Given the description of an element on the screen output the (x, y) to click on. 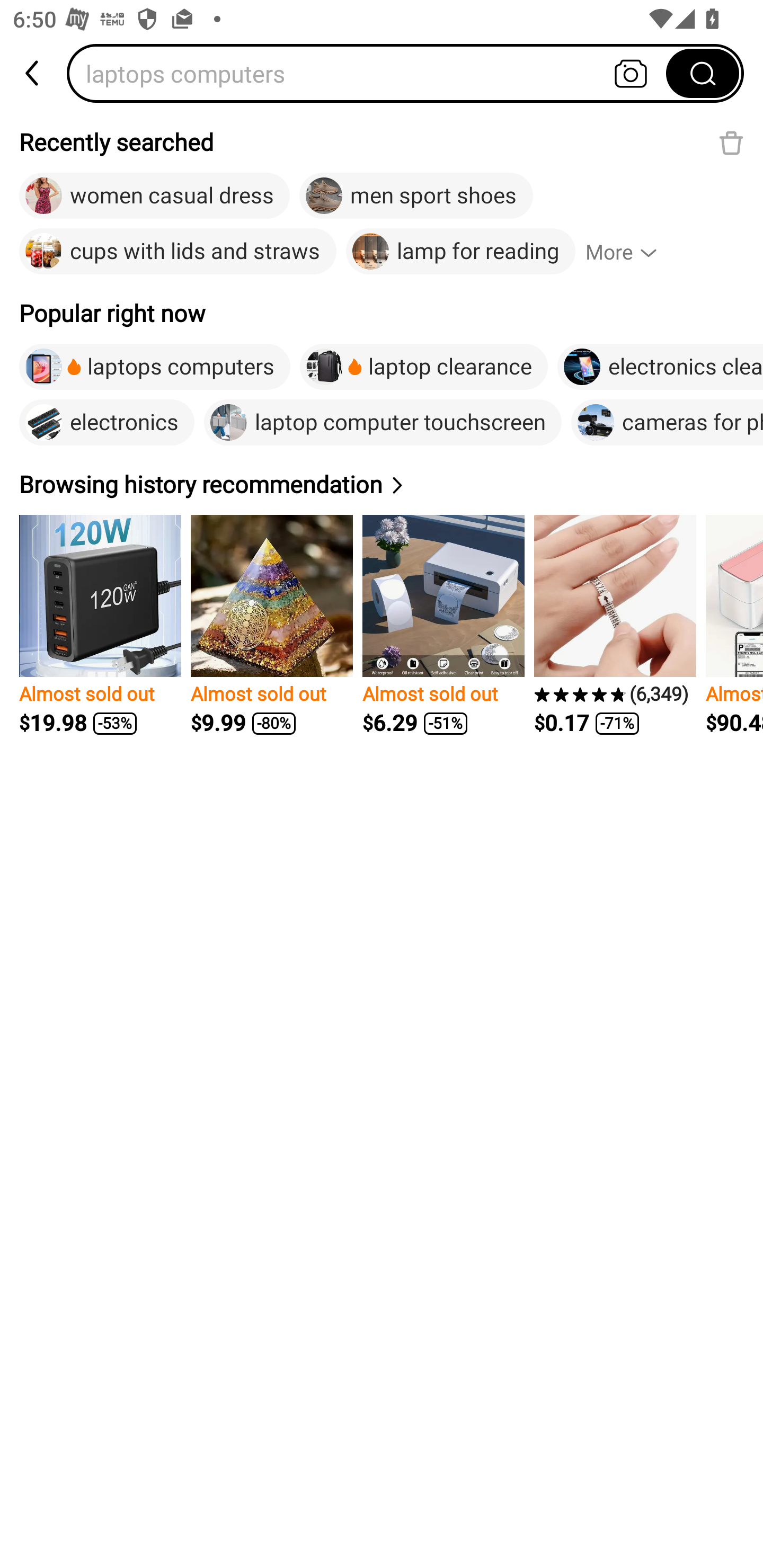
back (33, 72)
laptops computers (372, 73)
Search by photo (630, 73)
Delete recent search (731, 142)
women casual dress (154, 195)
men sport shoes (416, 195)
cups with lids and straws (177, 251)
lamp for reading (460, 251)
More (629, 251)
laptops computers (154, 366)
laptop clearance (423, 366)
electronics clearance (660, 366)
electronics (106, 422)
laptop computer touchscreen (382, 422)
cameras for photography (667, 422)
Browsing history recommendation (213, 484)
Almost sold out $19.98 -53% (100, 625)
Almost sold out $9.99 -80% (271, 625)
Almost sold out $6.29 -51% (443, 625)
(6,349) $0.17 -71% (614, 625)
